Given the description of an element on the screen output the (x, y) to click on. 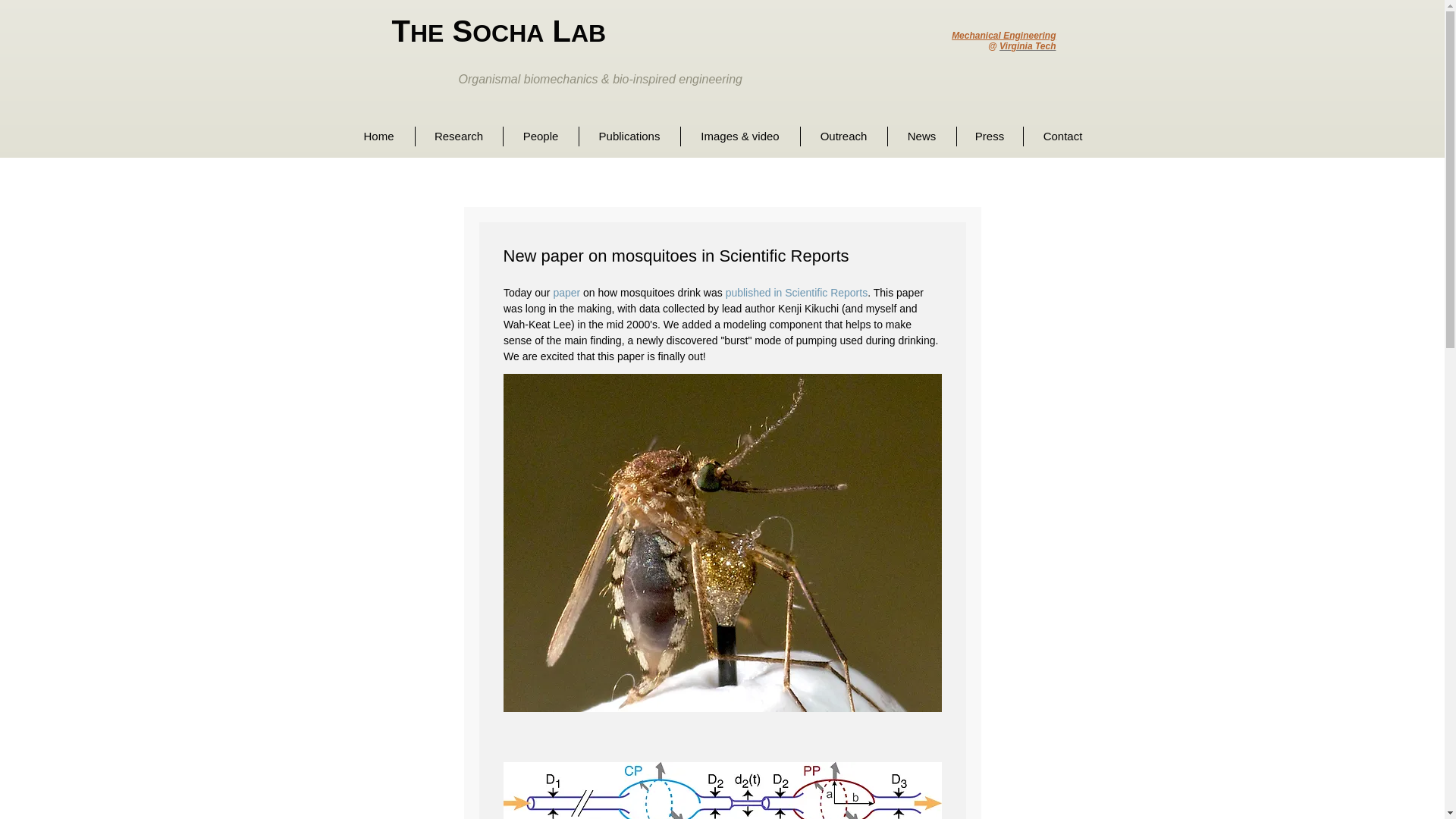
Virginia Tech (1026, 45)
Contact (1062, 136)
Publications (629, 136)
News (920, 136)
Outreach (843, 136)
published in Scientific Reports (796, 292)
Press (989, 136)
Home (377, 136)
Mechanical Engineering (1003, 35)
paper (566, 292)
